Given the description of an element on the screen output the (x, y) to click on. 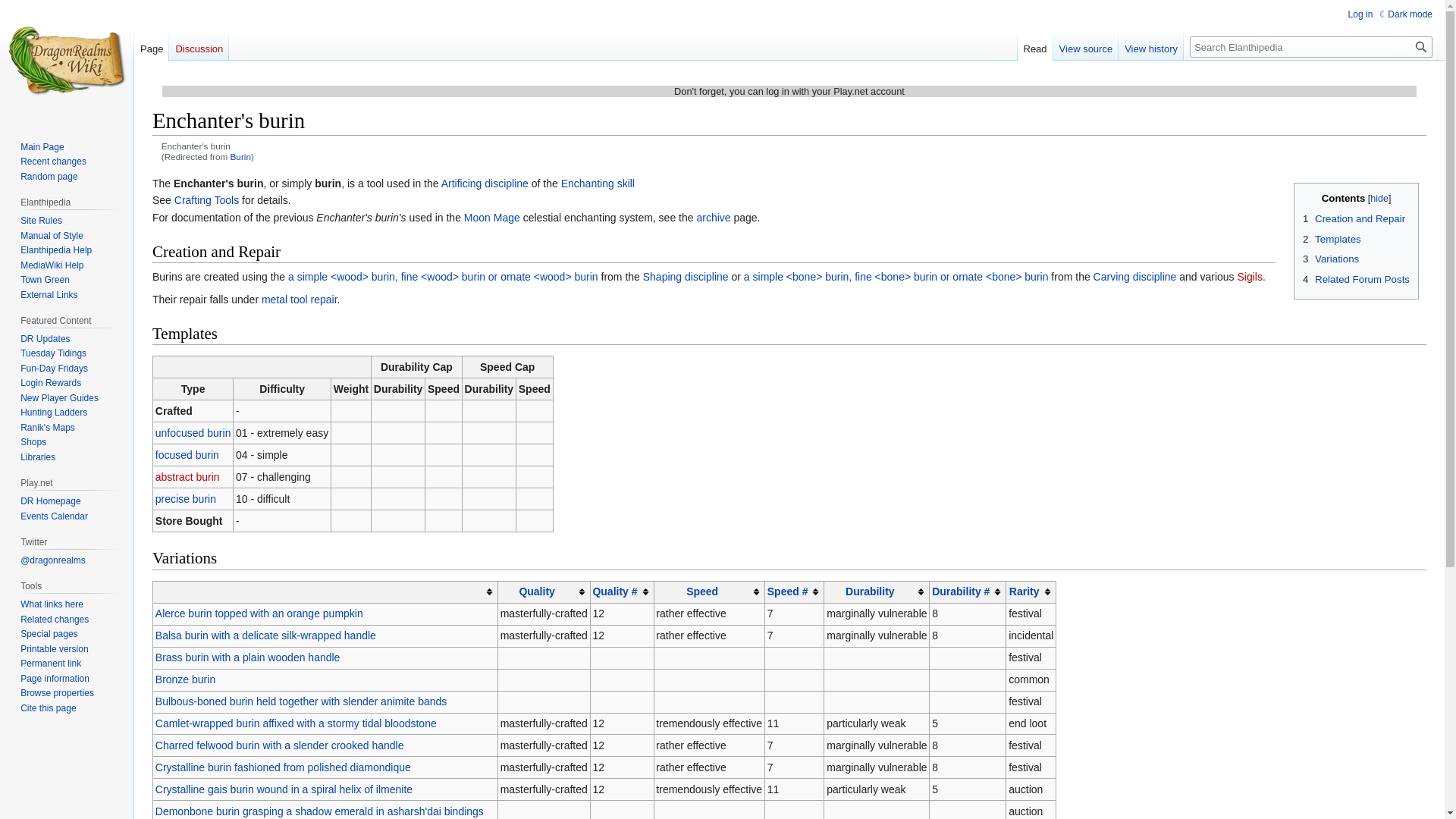
4 Related Forum Posts (1355, 279)
1 Creation and Repair (1353, 218)
Go (1420, 46)
Shaping products (443, 276)
Sort ascending (324, 591)
Brass burin with a plain wooden handle (247, 657)
Shaping discipline (686, 276)
Balsa burin with a delicate silk-wrapped handle (265, 635)
Blacksmithing discipline (299, 299)
Quality (536, 591)
